Given the description of an element on the screen output the (x, y) to click on. 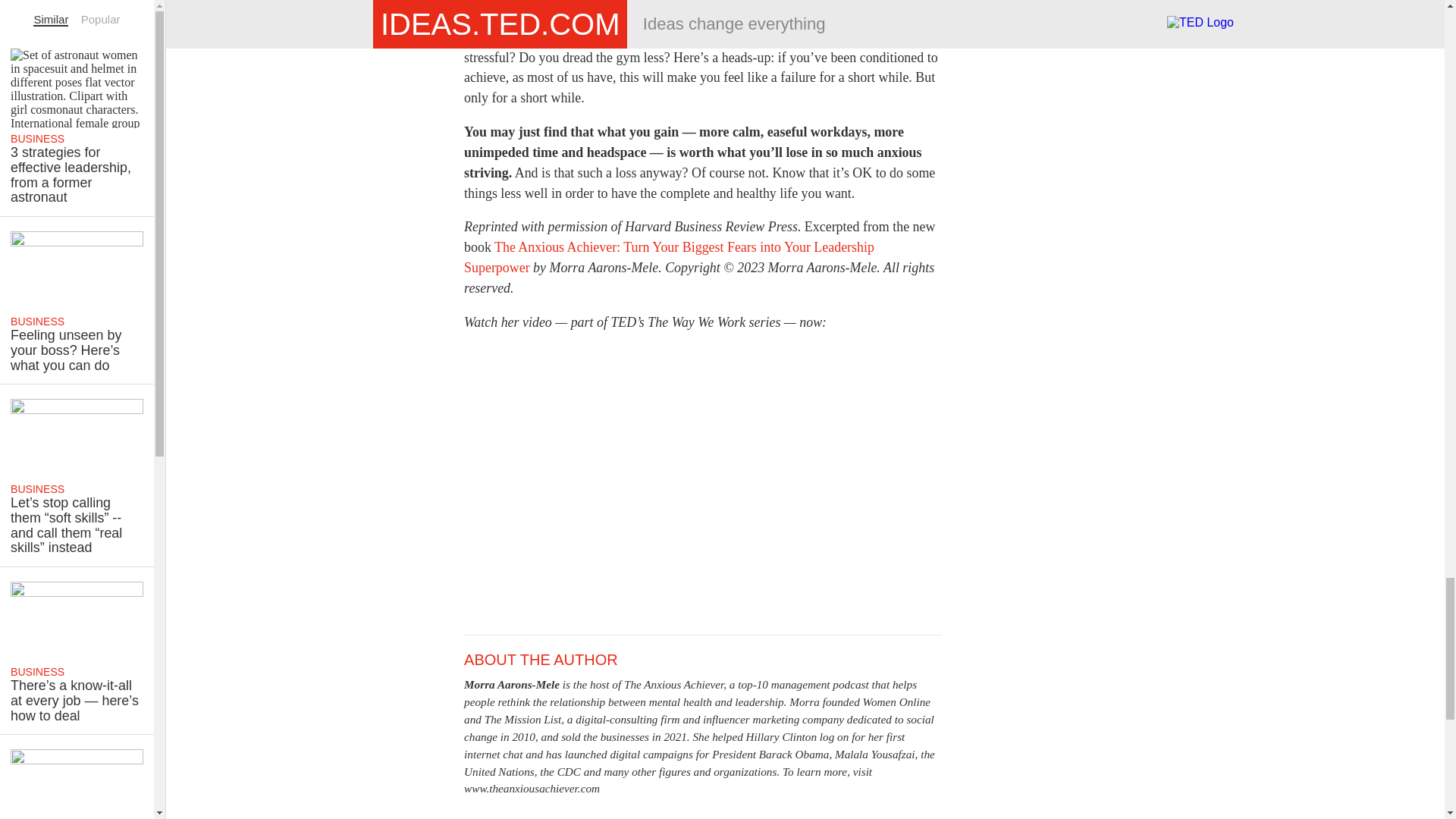
Morra Aarons-Mele: 3 steps to stop remote work burnout (703, 480)
Morra Aarons-Mele (511, 684)
